Given the description of an element on the screen output the (x, y) to click on. 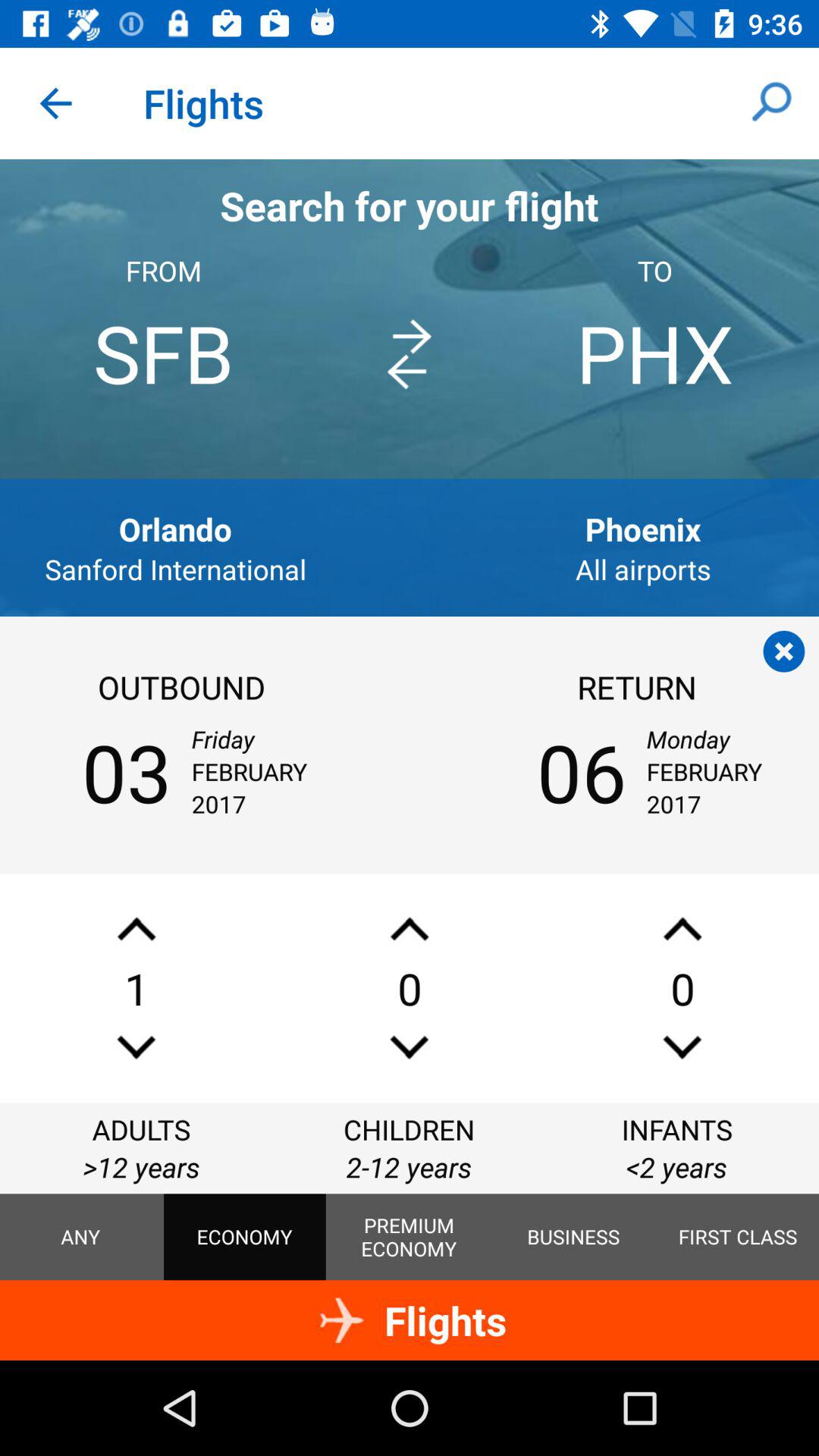
decrease number (409, 1047)
